Given the description of an element on the screen output the (x, y) to click on. 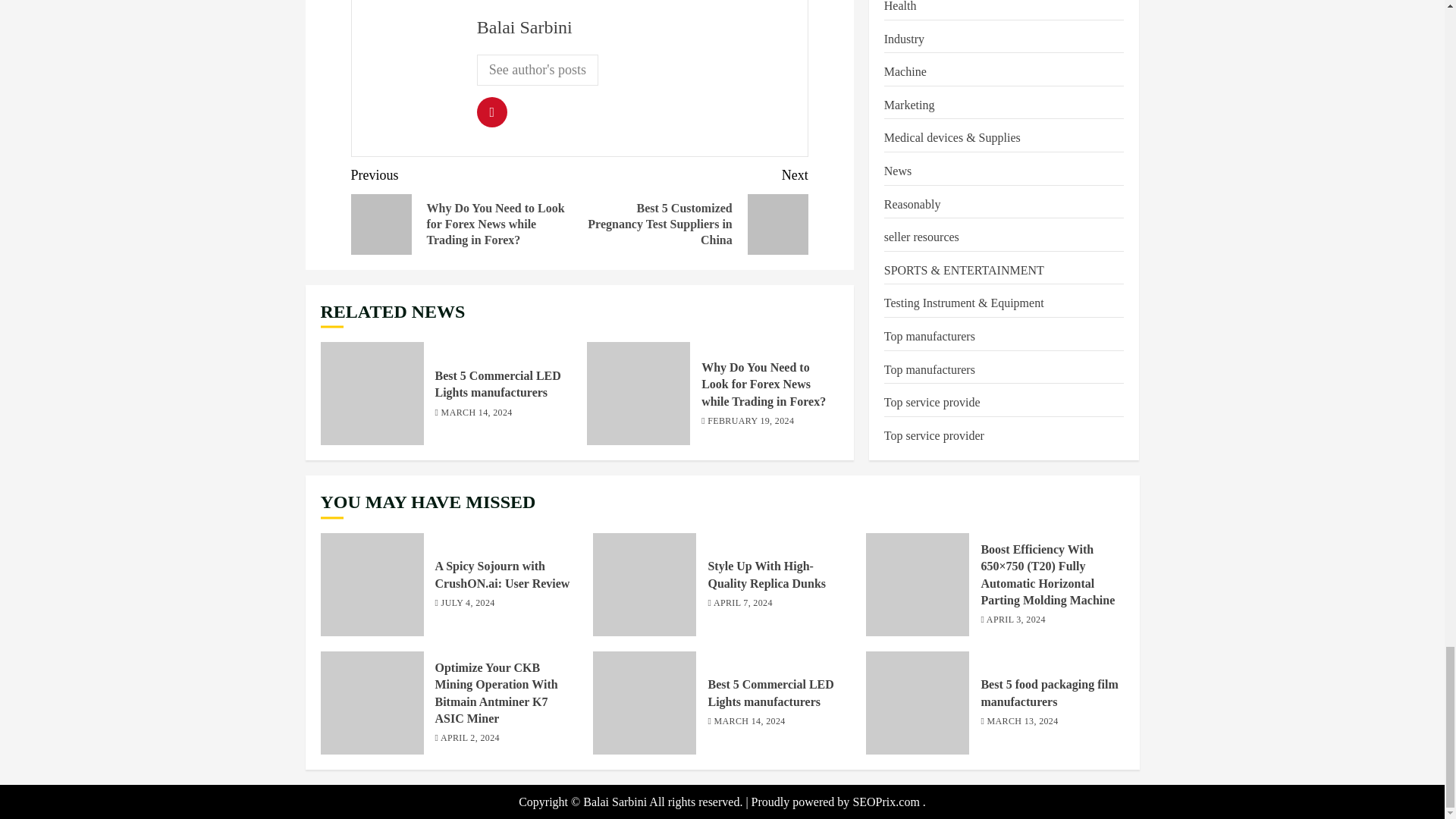
See author's posts (537, 69)
Best 5 Commercial LED Lights manufacturers (497, 384)
Balai Sarbini (524, 27)
Best 5 Commercial LED Lights manufacturers (371, 393)
